Given the description of an element on the screen output the (x, y) to click on. 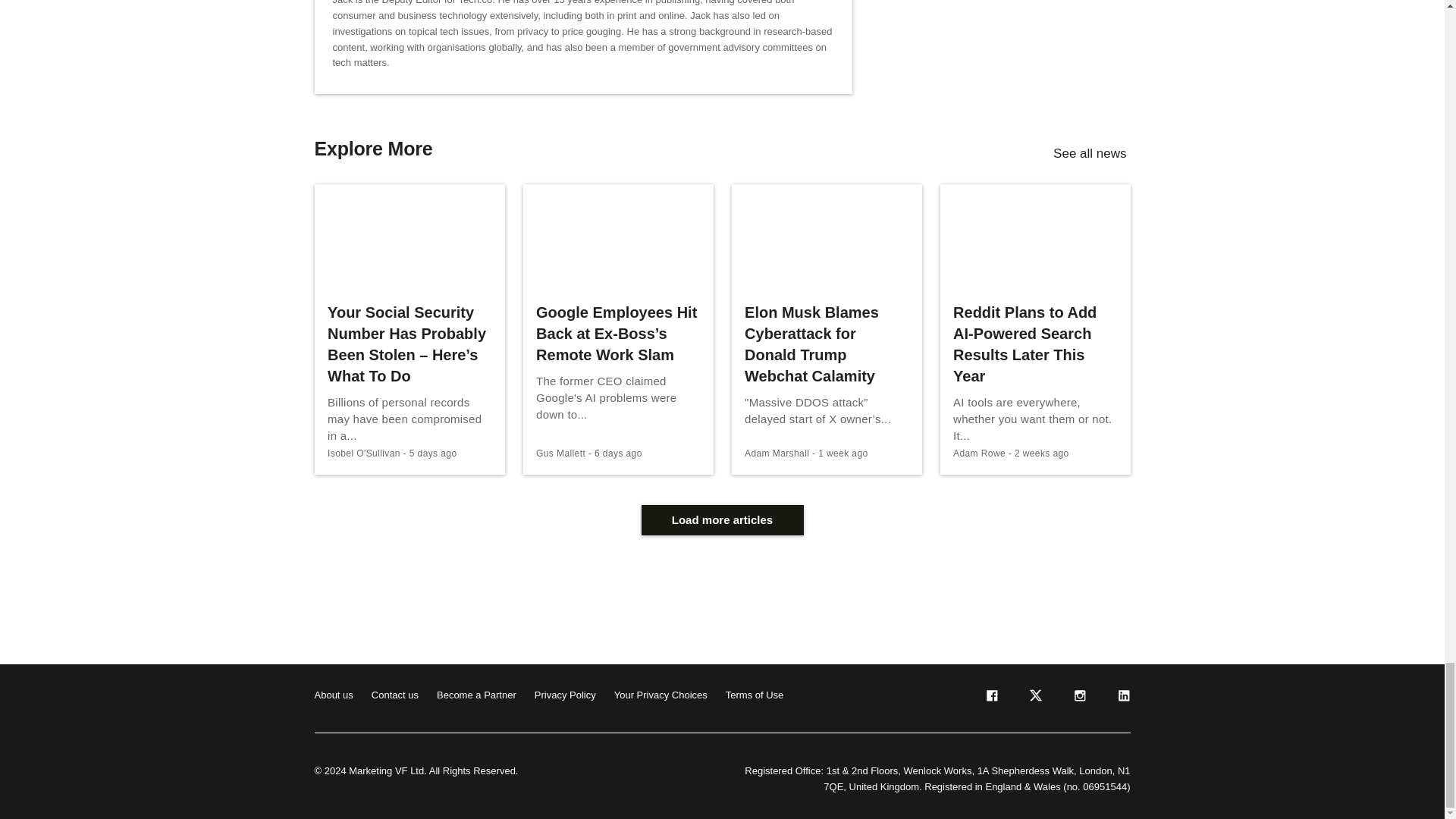
instagram (1078, 698)
twitter-x (1034, 698)
linkedin (1122, 698)
facebook (990, 698)
